Given the description of an element on the screen output the (x, y) to click on. 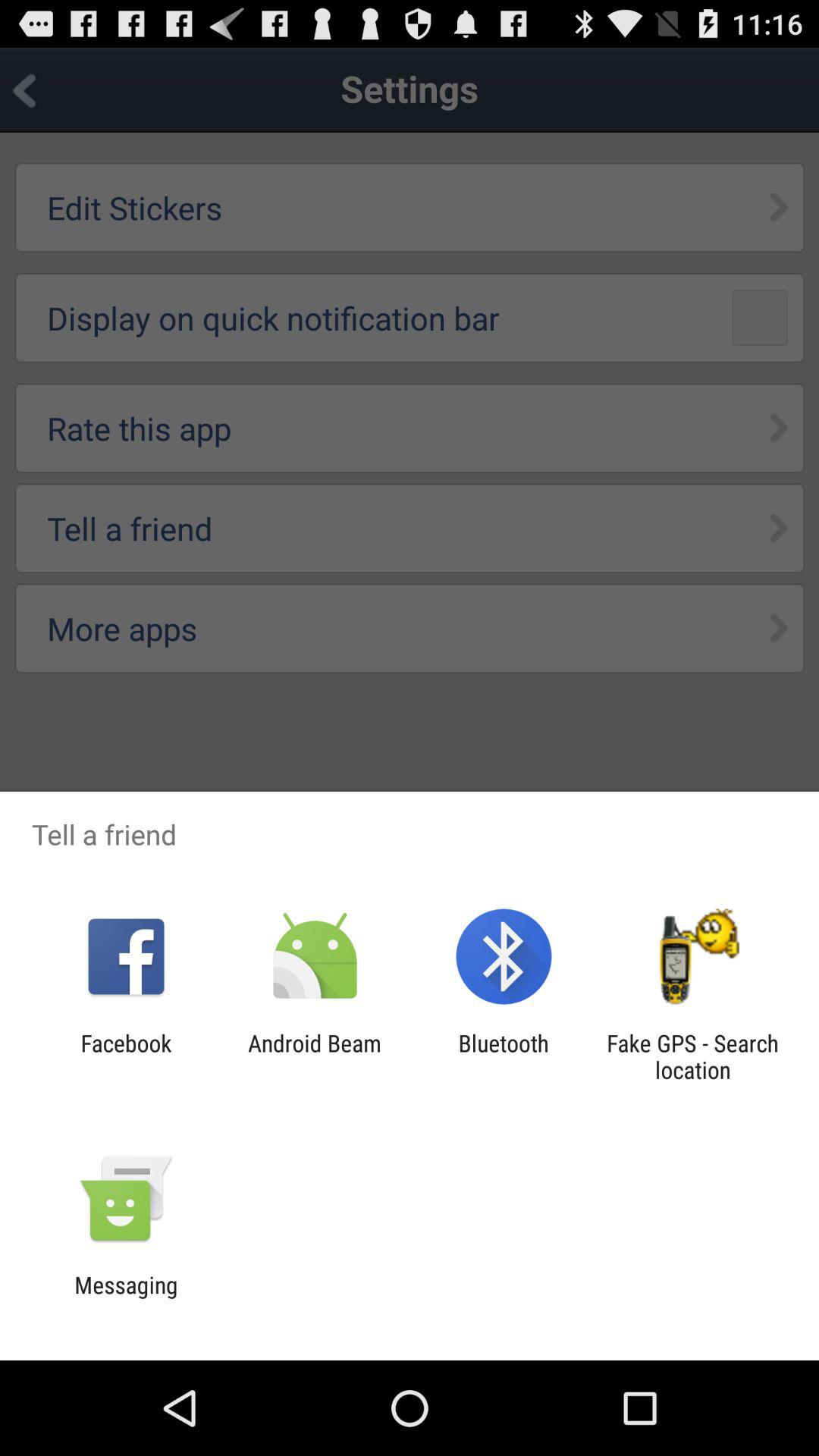
flip until bluetooth icon (503, 1056)
